Given the description of an element on the screen output the (x, y) to click on. 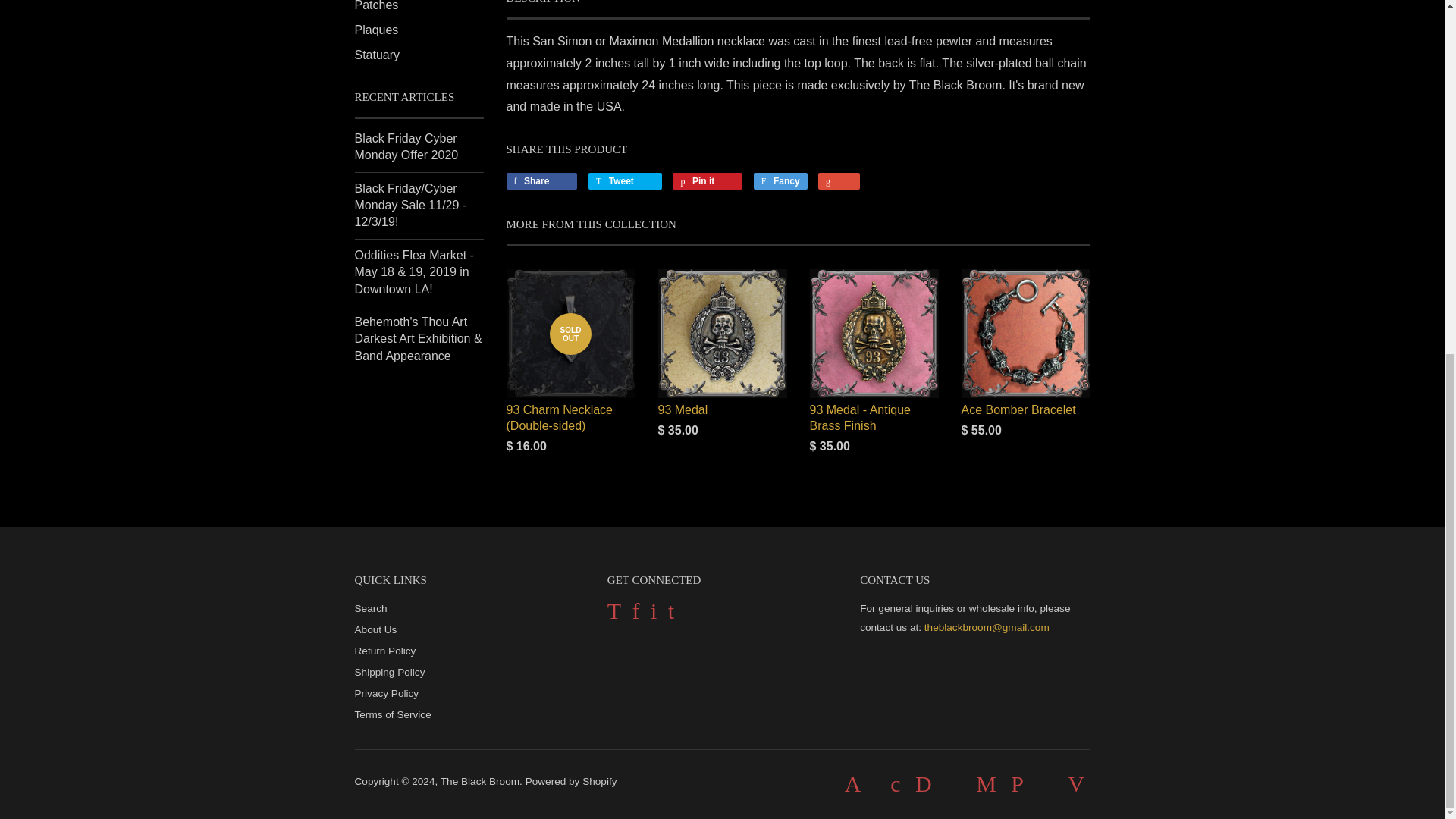
The Black Broom on Twitter (614, 614)
